Given the description of an element on the screen output the (x, y) to click on. 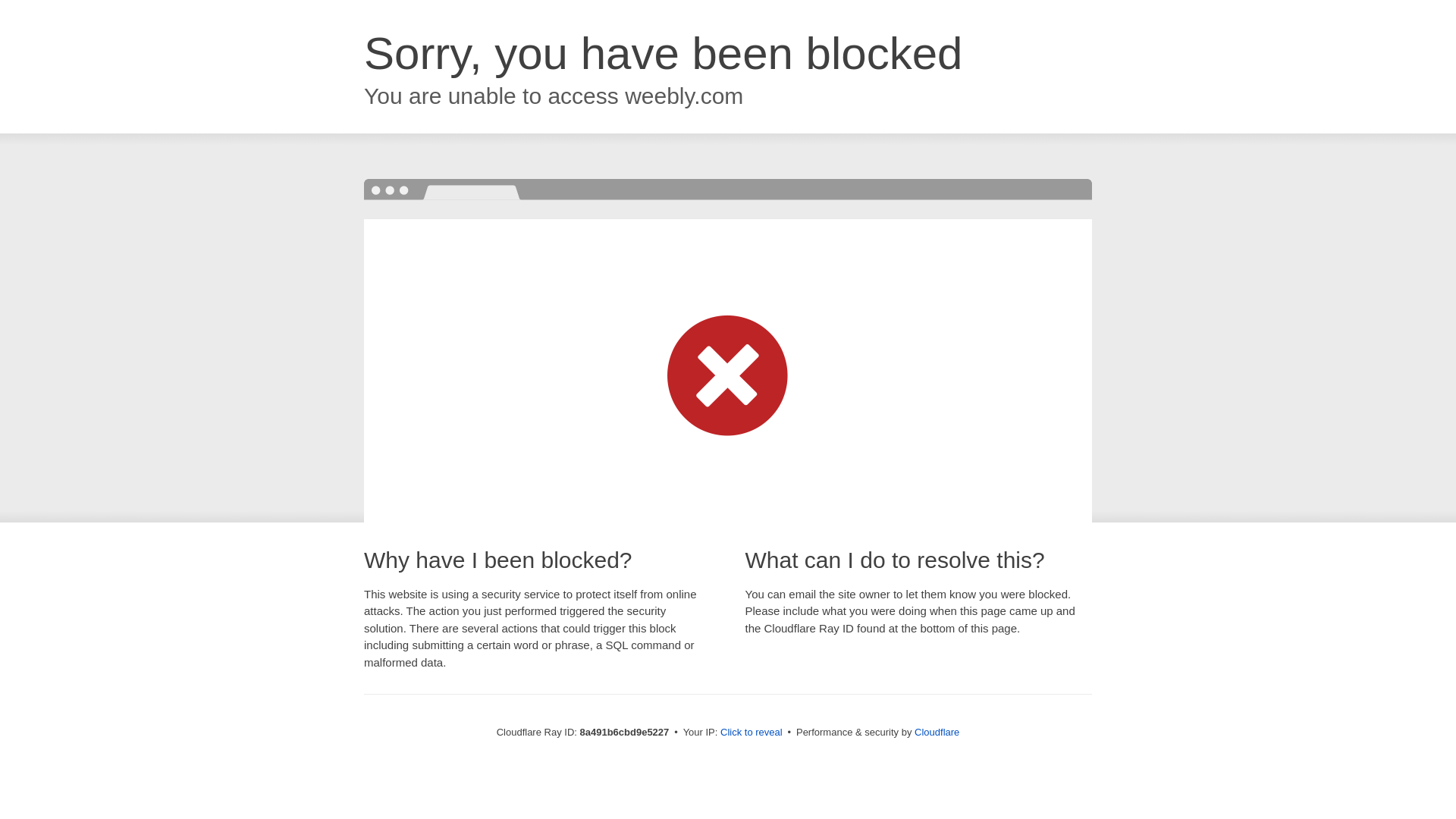
Cloudflare (936, 731)
Click to reveal (751, 732)
